Given the description of an element on the screen output the (x, y) to click on. 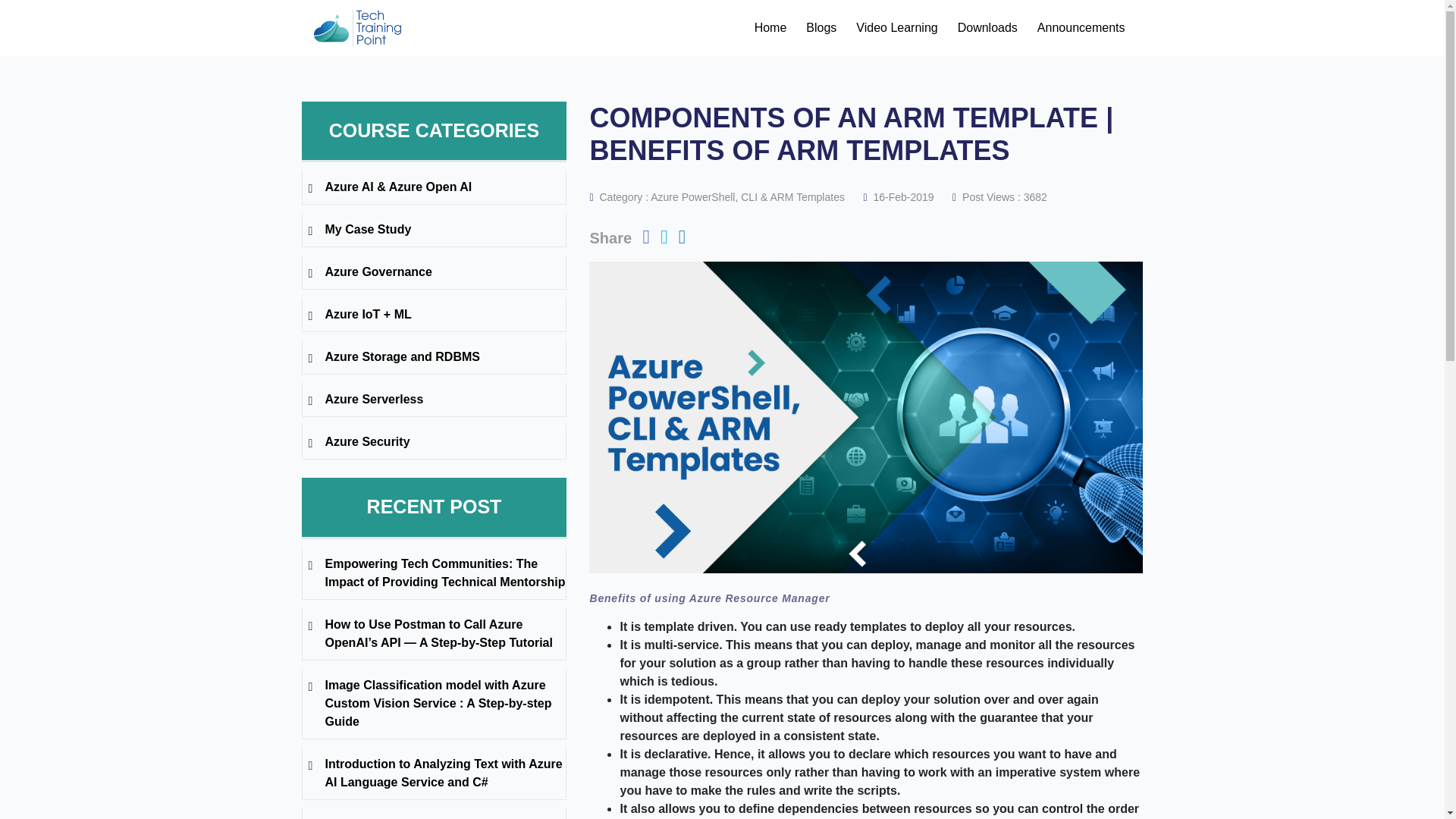
Video Learning (896, 28)
Azure Governance (433, 271)
Azure Serverless (433, 399)
Home (770, 28)
Downloads (987, 28)
Azure Security (433, 442)
Azure Storage and RDBMS (433, 357)
Blogs (821, 28)
My Case Study (433, 229)
Announcements (1080, 28)
